Given the description of an element on the screen output the (x, y) to click on. 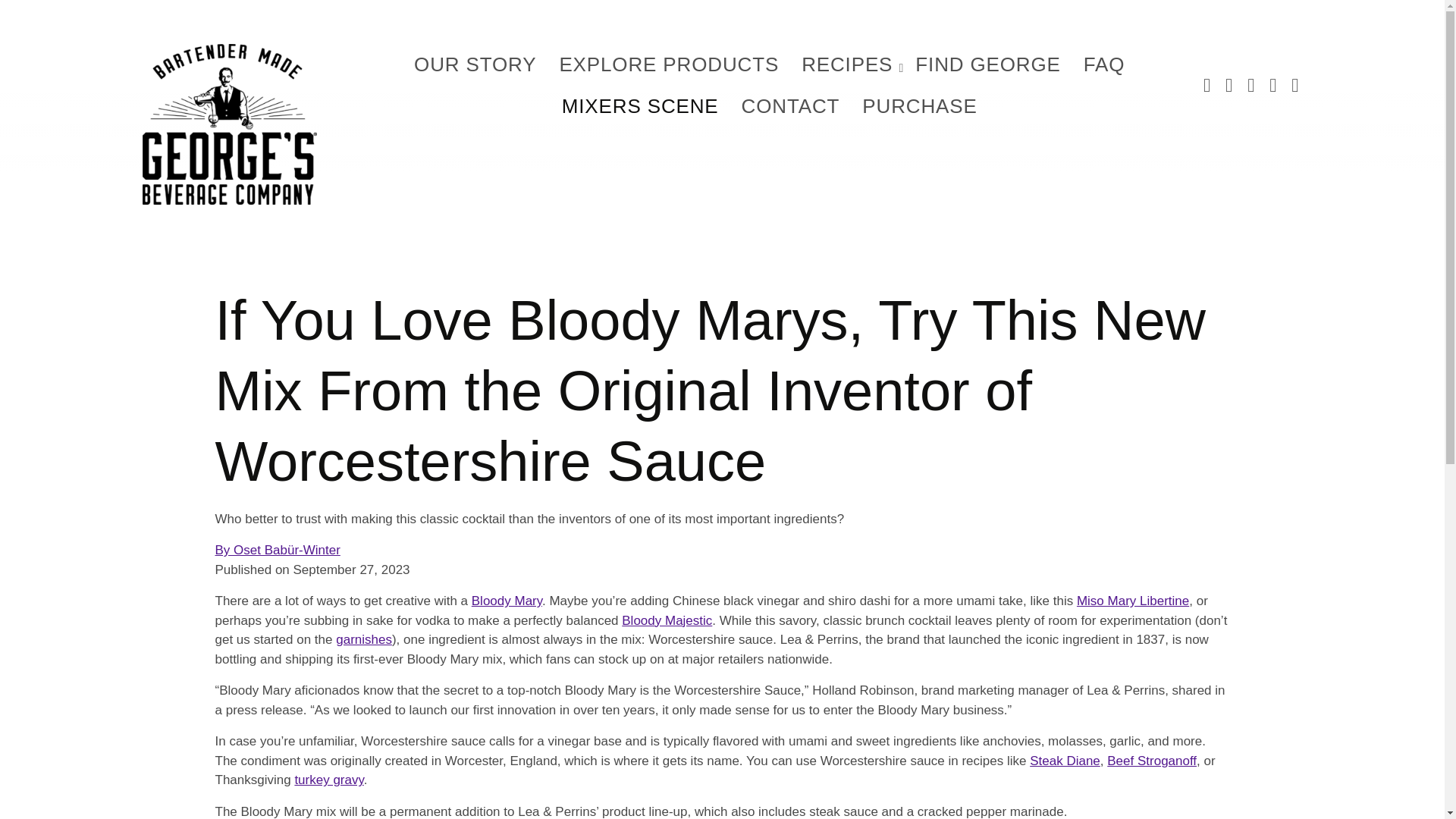
Beef Stroganoff (1151, 760)
Bloody Mary (506, 600)
RECIPES (847, 64)
FIND GEORGE (987, 64)
Steak Diane (1064, 760)
George's Beverage Company (229, 124)
FAQ (1104, 64)
OUR STORY (475, 64)
garnishes (363, 639)
PURCHASE (919, 106)
